Given the description of an element on the screen output the (x, y) to click on. 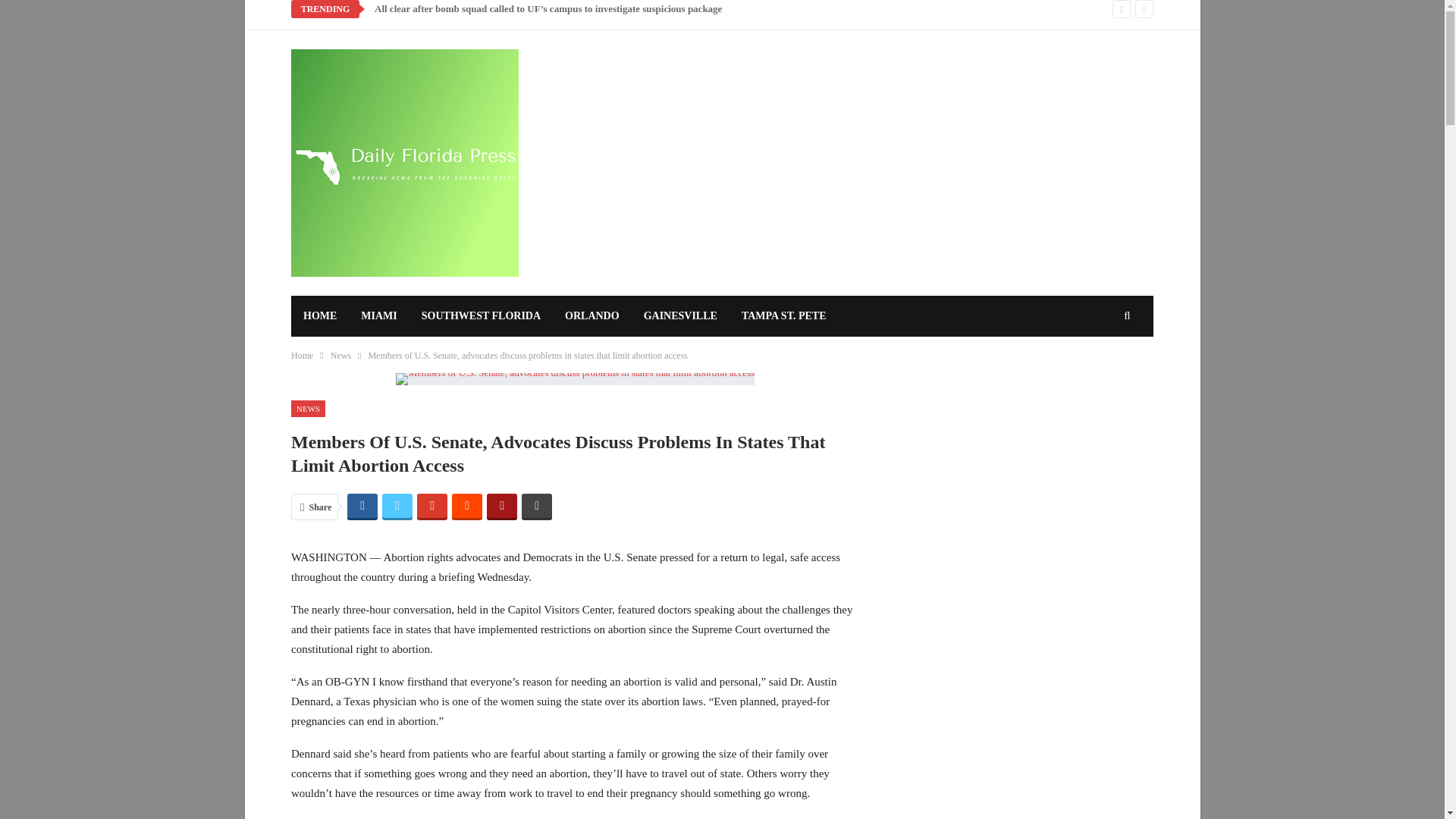
TAMPA ST. PETE (783, 315)
NEWS (307, 408)
HOME (320, 315)
MIAMI (379, 315)
News (340, 355)
Home (302, 355)
SOUTHWEST FLORIDA (481, 315)
GAINESVILLE (680, 315)
ORLANDO (592, 315)
